Given the description of an element on the screen output the (x, y) to click on. 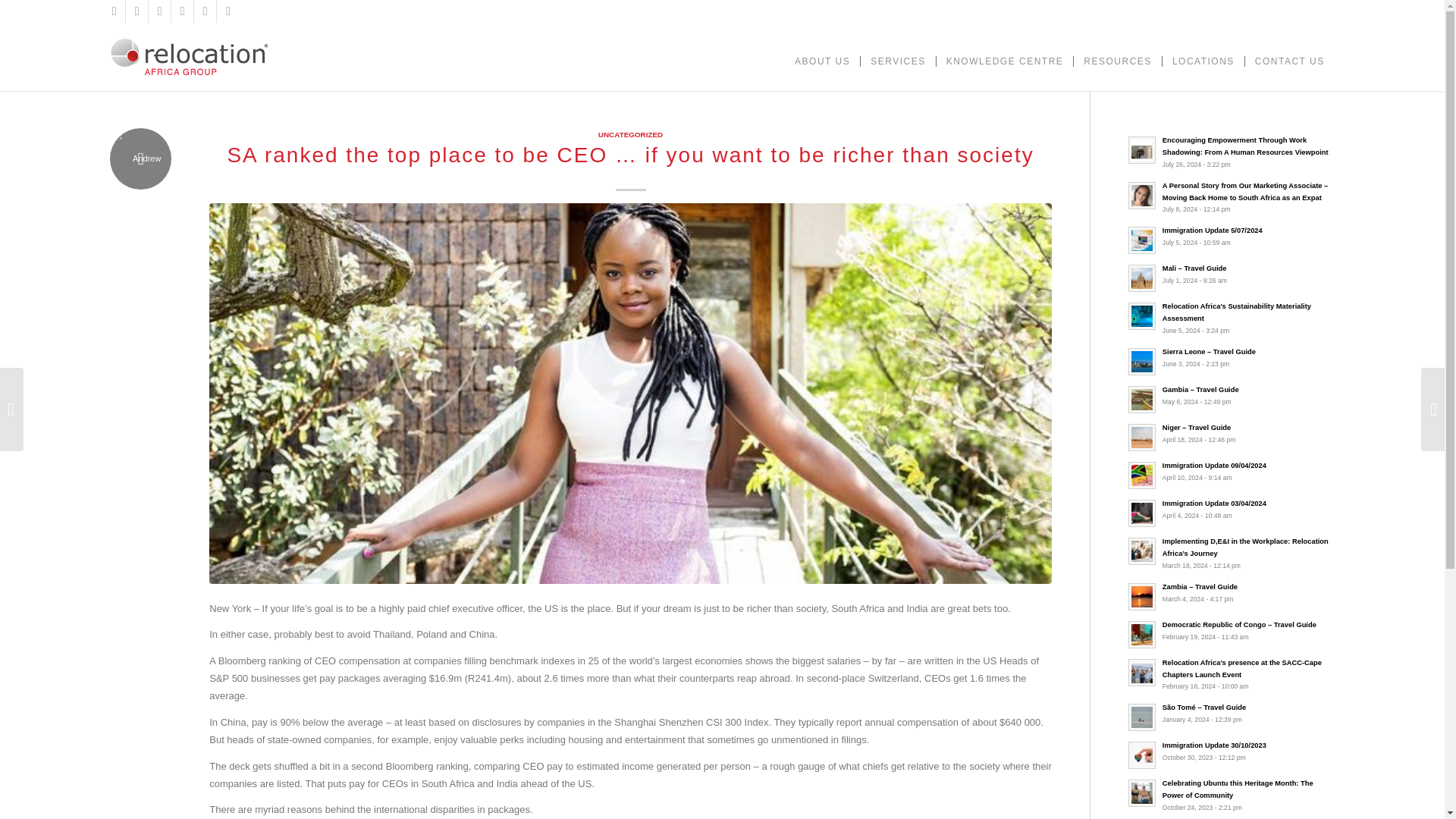
UNCATEGORIZED (630, 134)
Mail (228, 11)
RESOURCES (1117, 56)
CONTACT US (1289, 56)
ABOUT US (822, 56)
SERVICES (897, 56)
KNOWLEDGE CENTRE (1005, 56)
Instagram (182, 11)
Facebook (114, 11)
Youtube (204, 11)
LOCATIONS (1202, 56)
Twitter (136, 11)
